Given the description of an element on the screen output the (x, y) to click on. 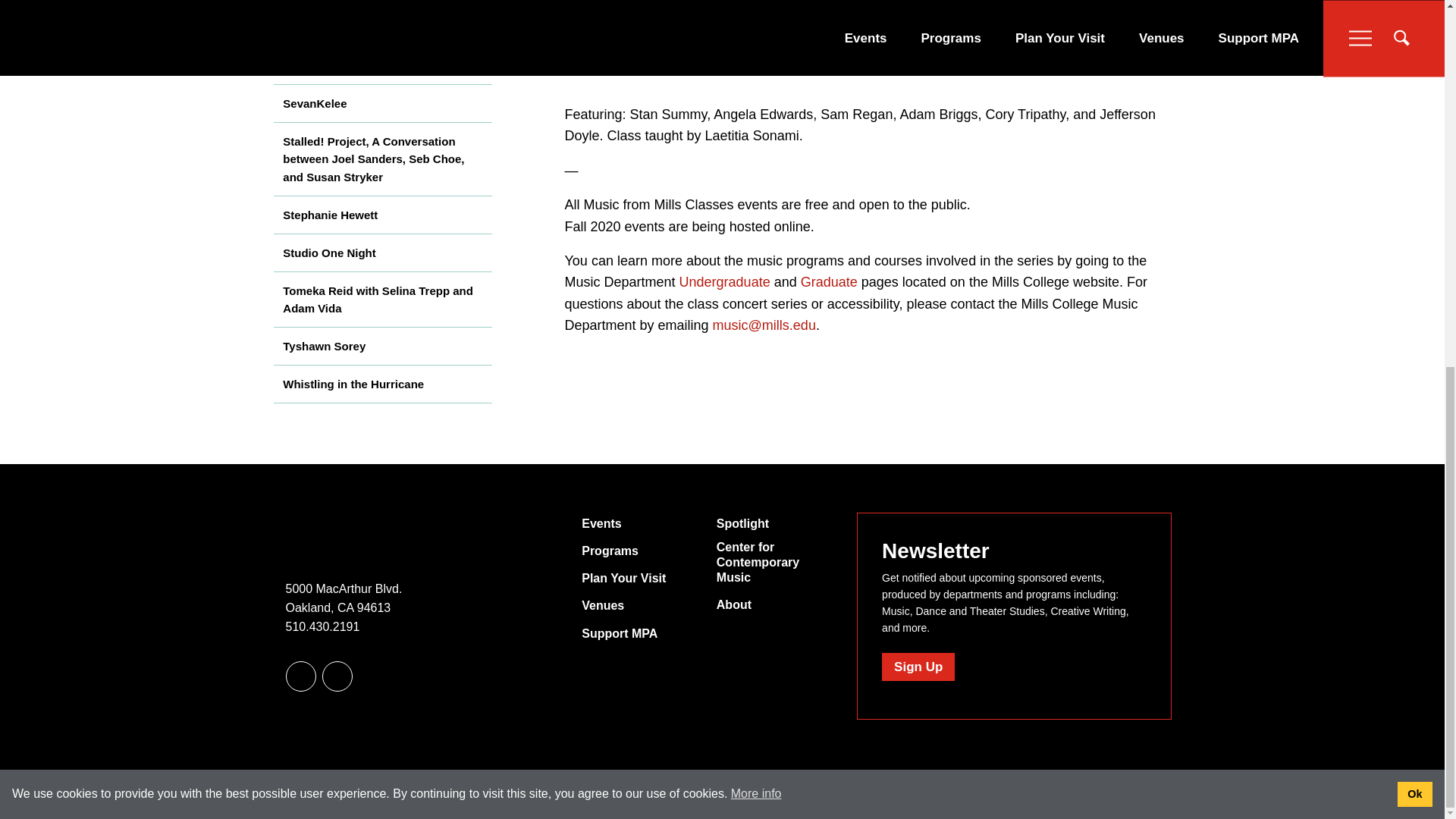
Plan Your Visit (622, 578)
Ok (1414, 132)
Visit twitter (300, 675)
Visit instagram (336, 675)
Mills College Music Dept Graduate Program (828, 281)
Venues (602, 605)
Programs (609, 550)
Mills College Music Dept. Undergraduate Program (724, 281)
Events (600, 523)
Support MPA (619, 633)
